Given the description of an element on the screen output the (x, y) to click on. 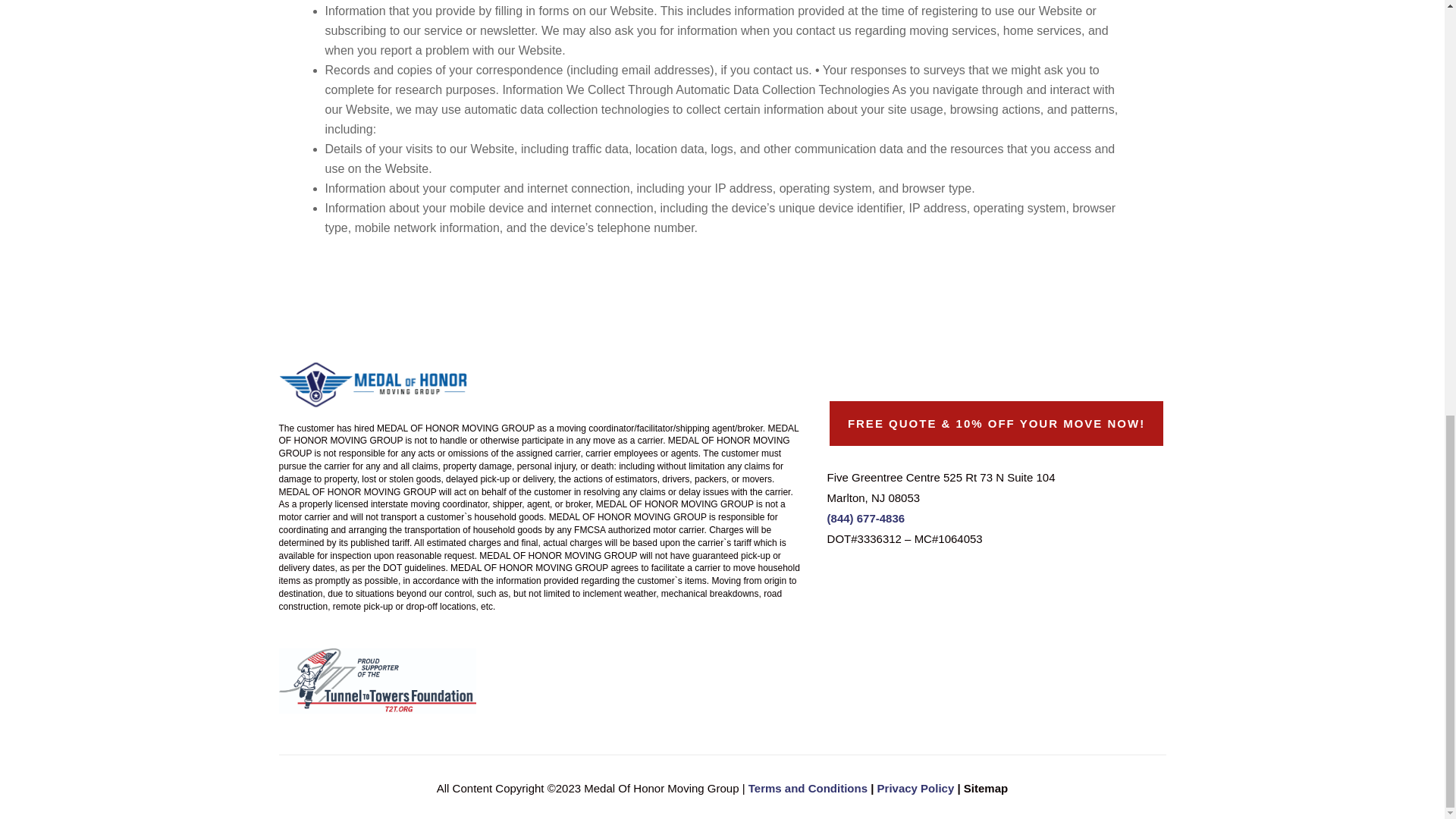
Privacy Policy (916, 788)
Copy-of-Macks-Movers-5 (373, 382)
Terms and Conditions (807, 788)
